Given the description of an element on the screen output the (x, y) to click on. 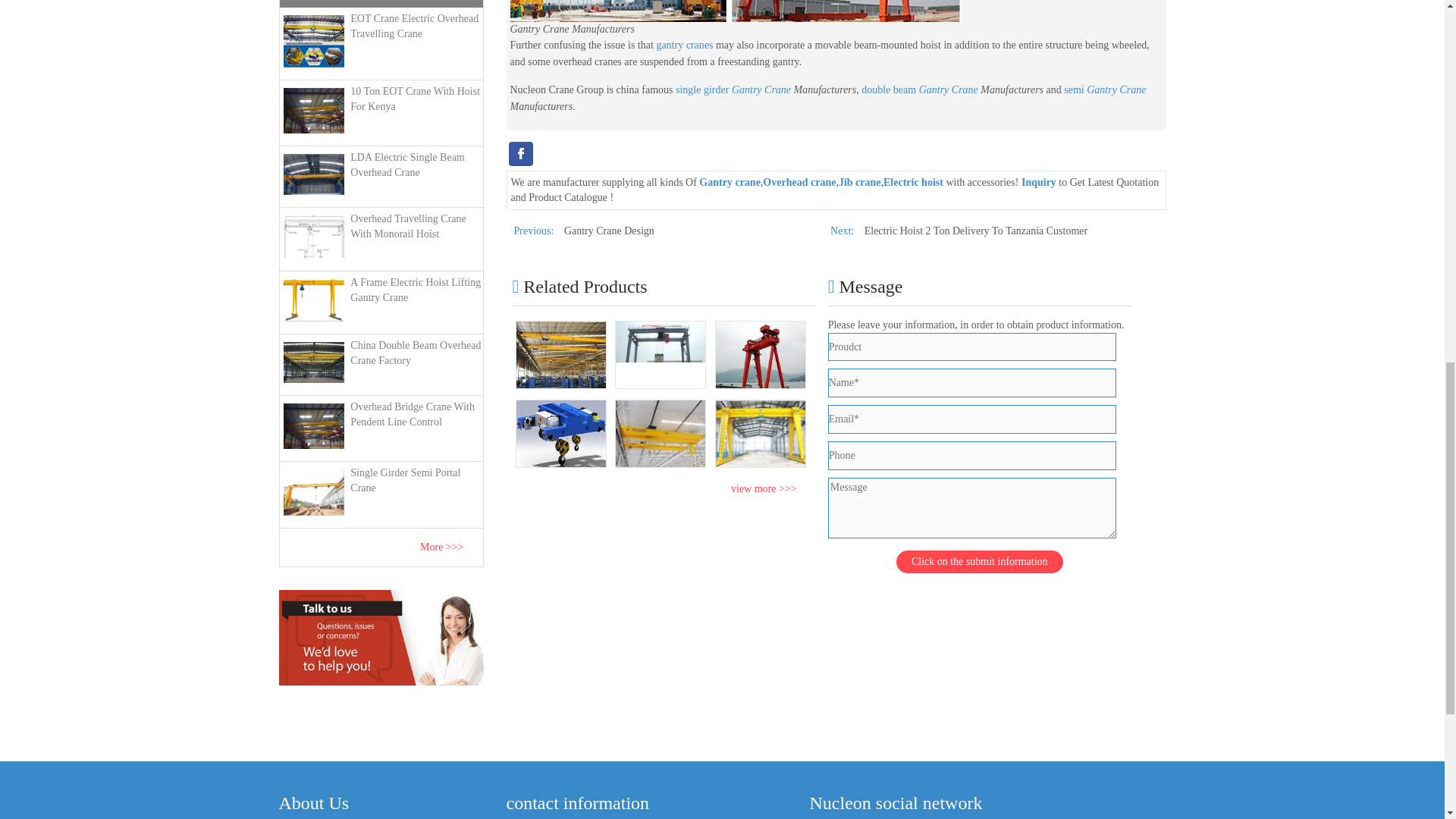
EOT Crane Electric Overhead Travelling Crane (380, 41)
Overhead Travelling Crane With Monorail Hoist (380, 237)
LDA Electric Single Beam Overhead Crane (380, 174)
Single Girder Semi Portal Crane (380, 491)
single girder (702, 89)
Overhead Bridge Crane With Pendent Line Control (380, 425)
10 Ton EOT Crane With Hoist For Kenya (380, 110)
China Double Beam Overhead Crane Factory (380, 362)
Gantry Crane (761, 89)
10 Ton EOT Crane With Hoist For Kenya (380, 110)
